Given the description of an element on the screen output the (x, y) to click on. 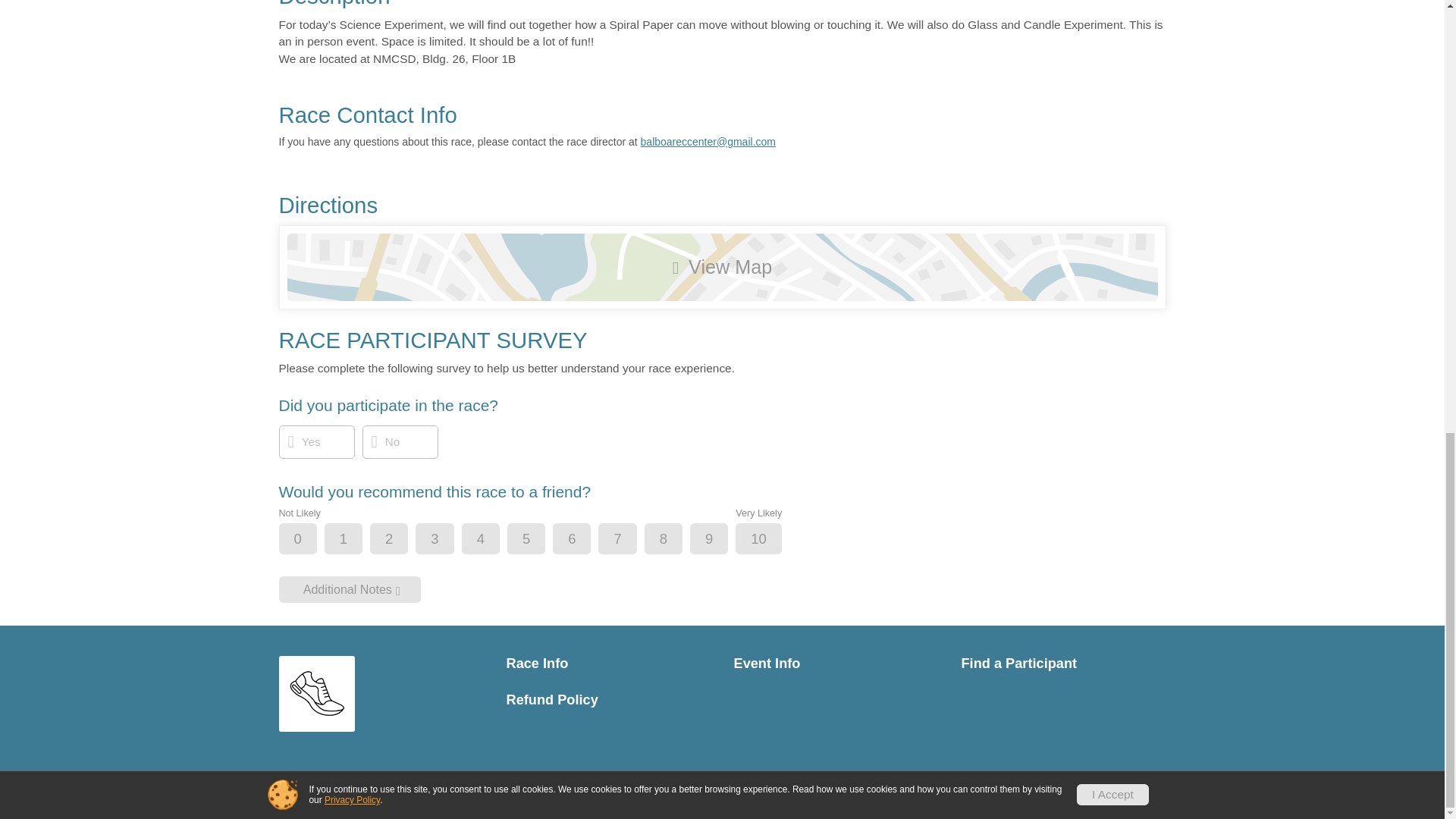
View Map (721, 267)
Privacy Policy (1037, 791)
Race Info (608, 663)
6 (584, 539)
Refund Policy (608, 700)
9 (721, 539)
2 (401, 539)
1 (355, 539)
Additional Notes (349, 589)
Contact This Race (1122, 791)
3 (447, 539)
5 (539, 539)
4 (493, 539)
0 (310, 539)
Event Info (836, 663)
